Given the description of an element on the screen output the (x, y) to click on. 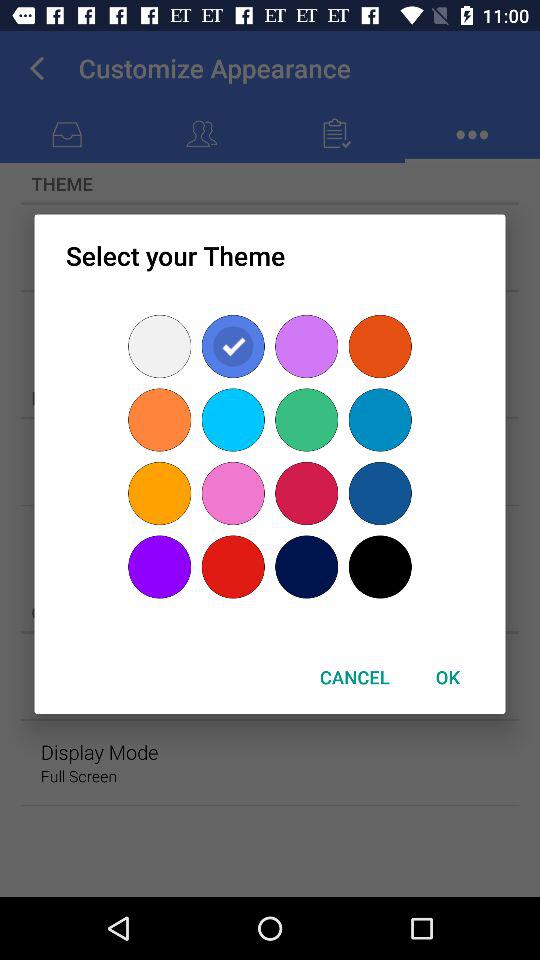
swipe until the ok item (447, 676)
